Given the description of an element on the screen output the (x, y) to click on. 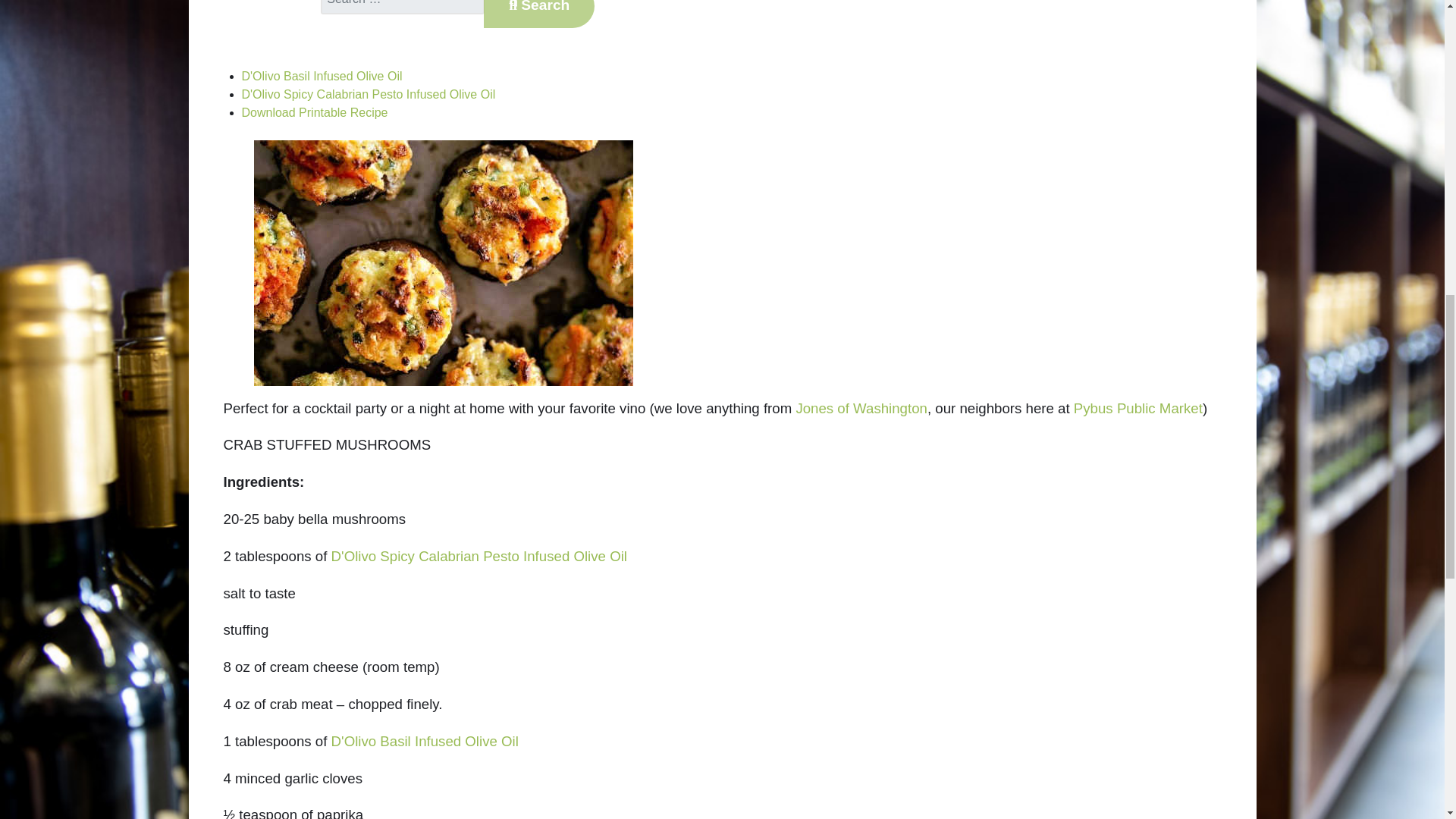
D'Olivo Spicy Calabrian Pesto Infused Olive Oil (368, 93)
D'Olivo Basil Infused Olive Oil (321, 75)
Search (538, 13)
